Given the description of an element on the screen output the (x, y) to click on. 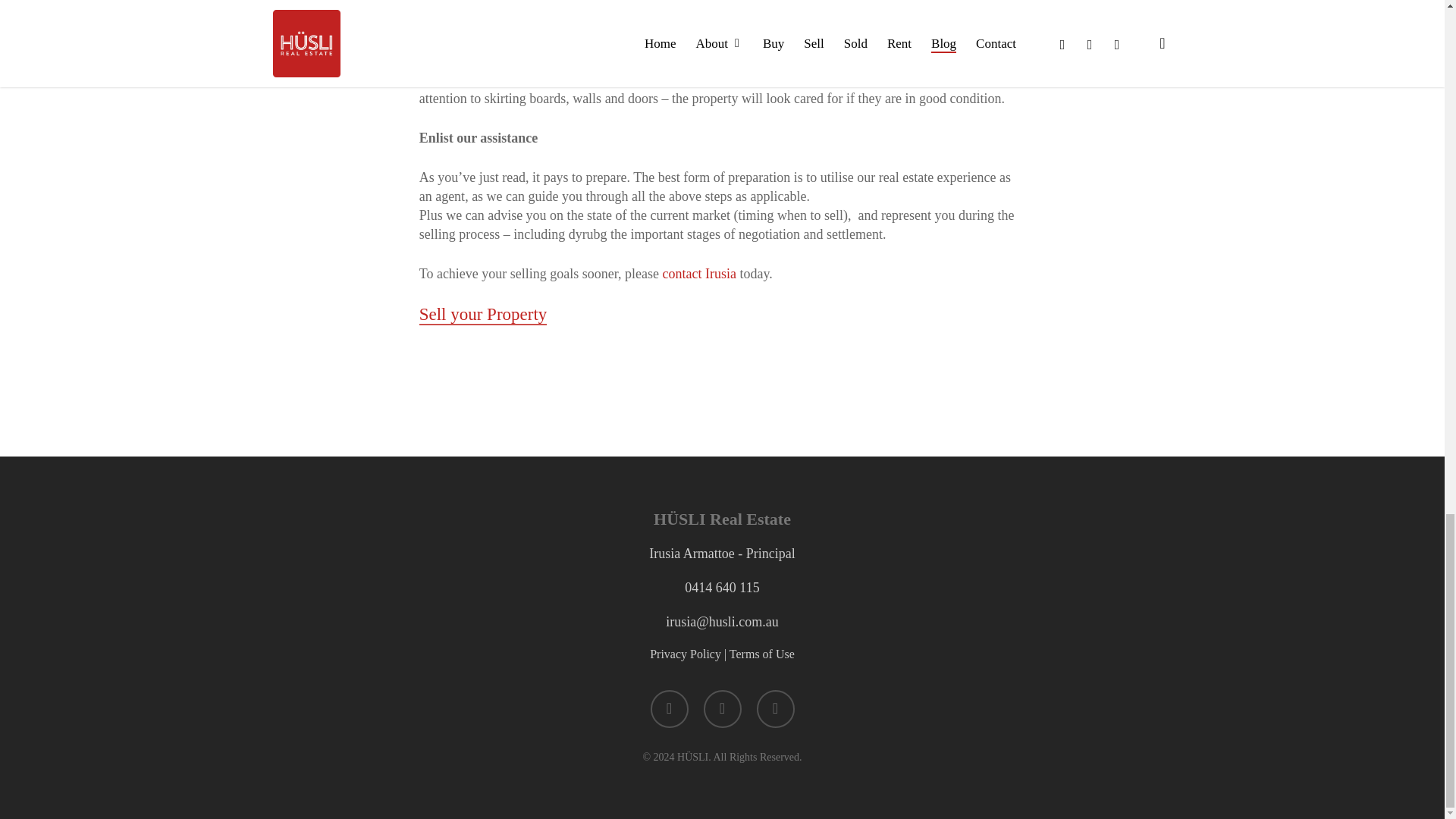
contact Irusia (699, 273)
Sell your Property (483, 314)
0414 640 115 (721, 587)
google-plus (775, 709)
linkedin (722, 709)
facebook (669, 709)
Terms of Use (761, 653)
Privacy Policy (684, 653)
